Given the description of an element on the screen output the (x, y) to click on. 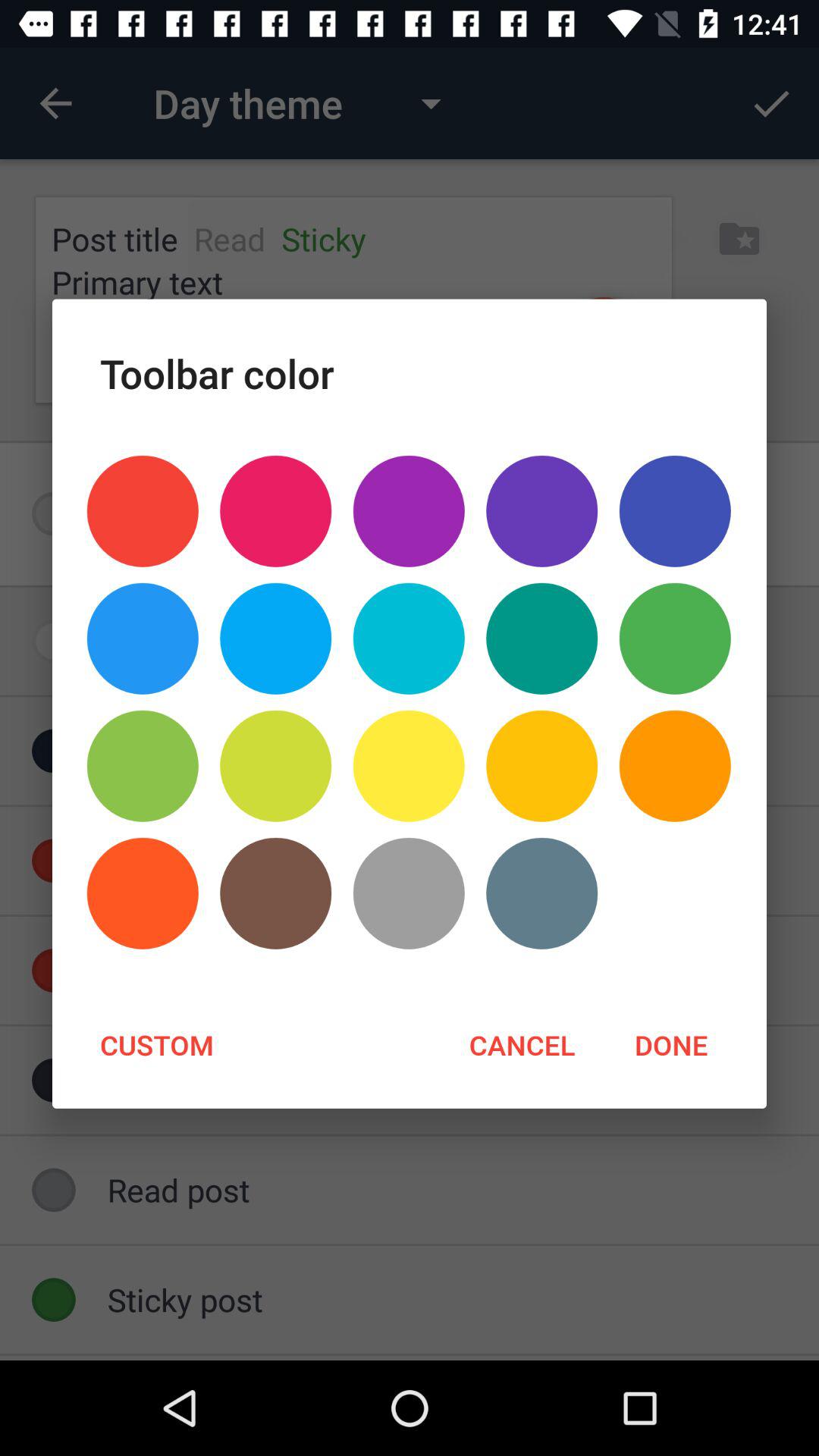
press item below toolbar color icon (275, 511)
